Given the description of an element on the screen output the (x, y) to click on. 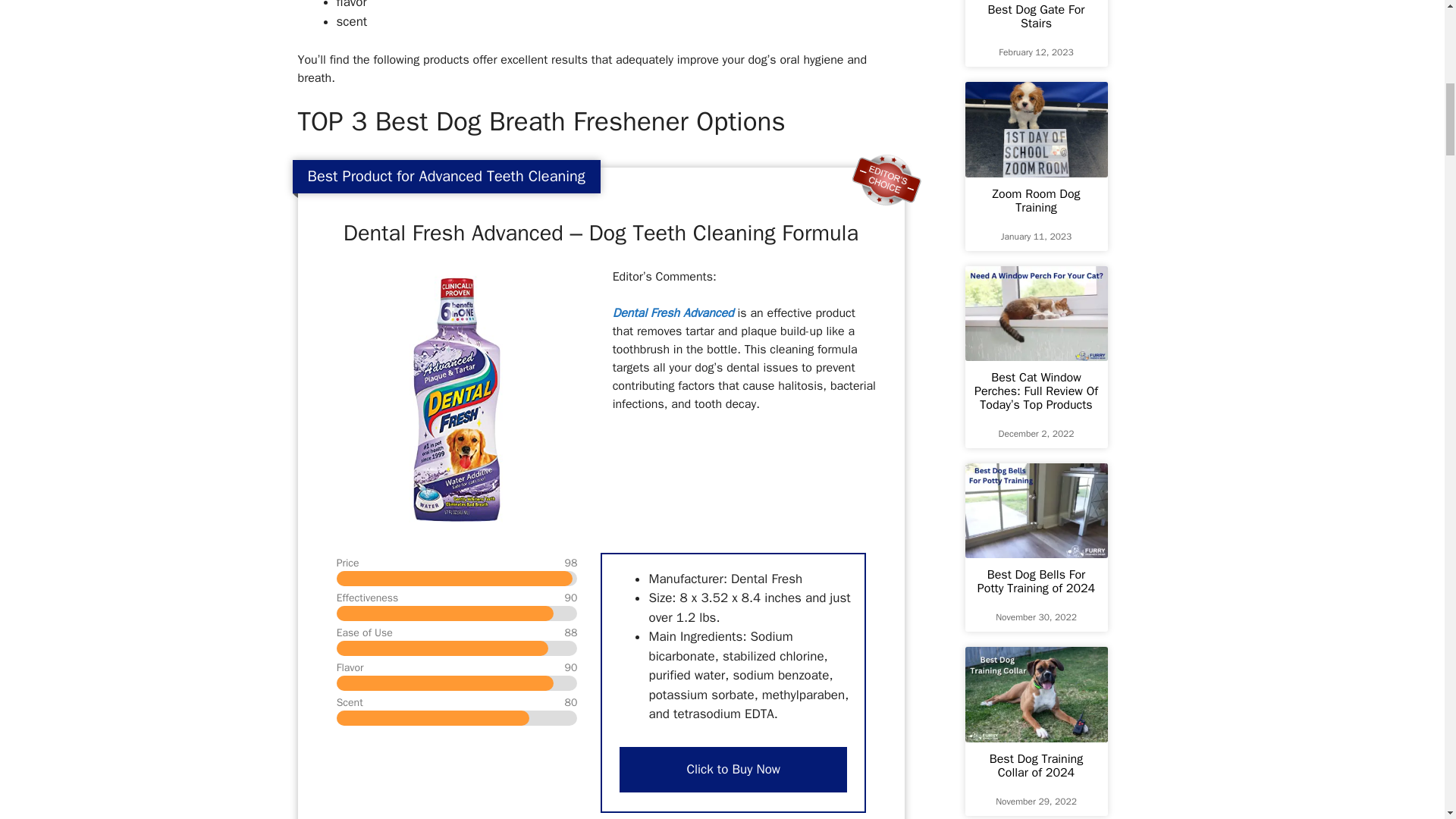
Dental Fresh Advanced (672, 313)
Click to Buy Now (733, 769)
